Given the description of an element on the screen output the (x, y) to click on. 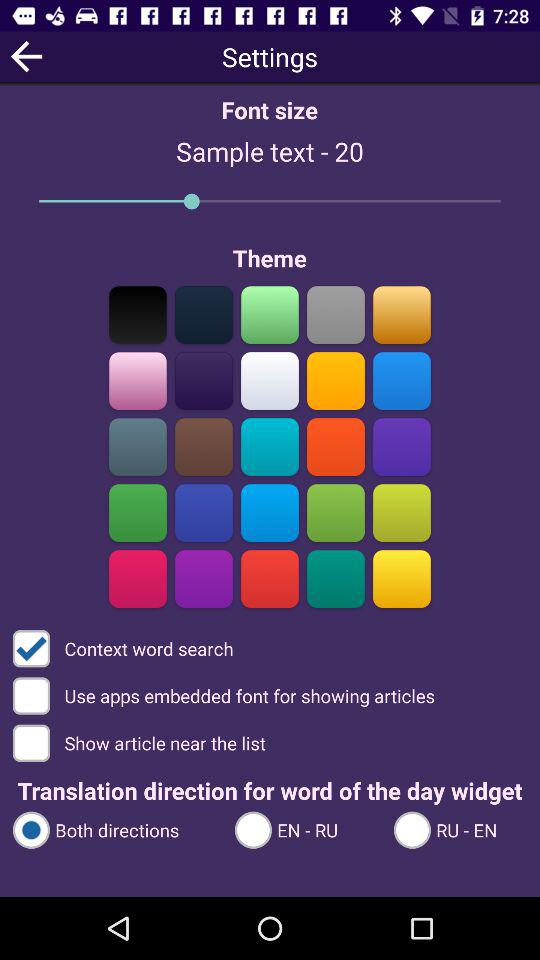
select a theme color (335, 578)
